Given the description of an element on the screen output the (x, y) to click on. 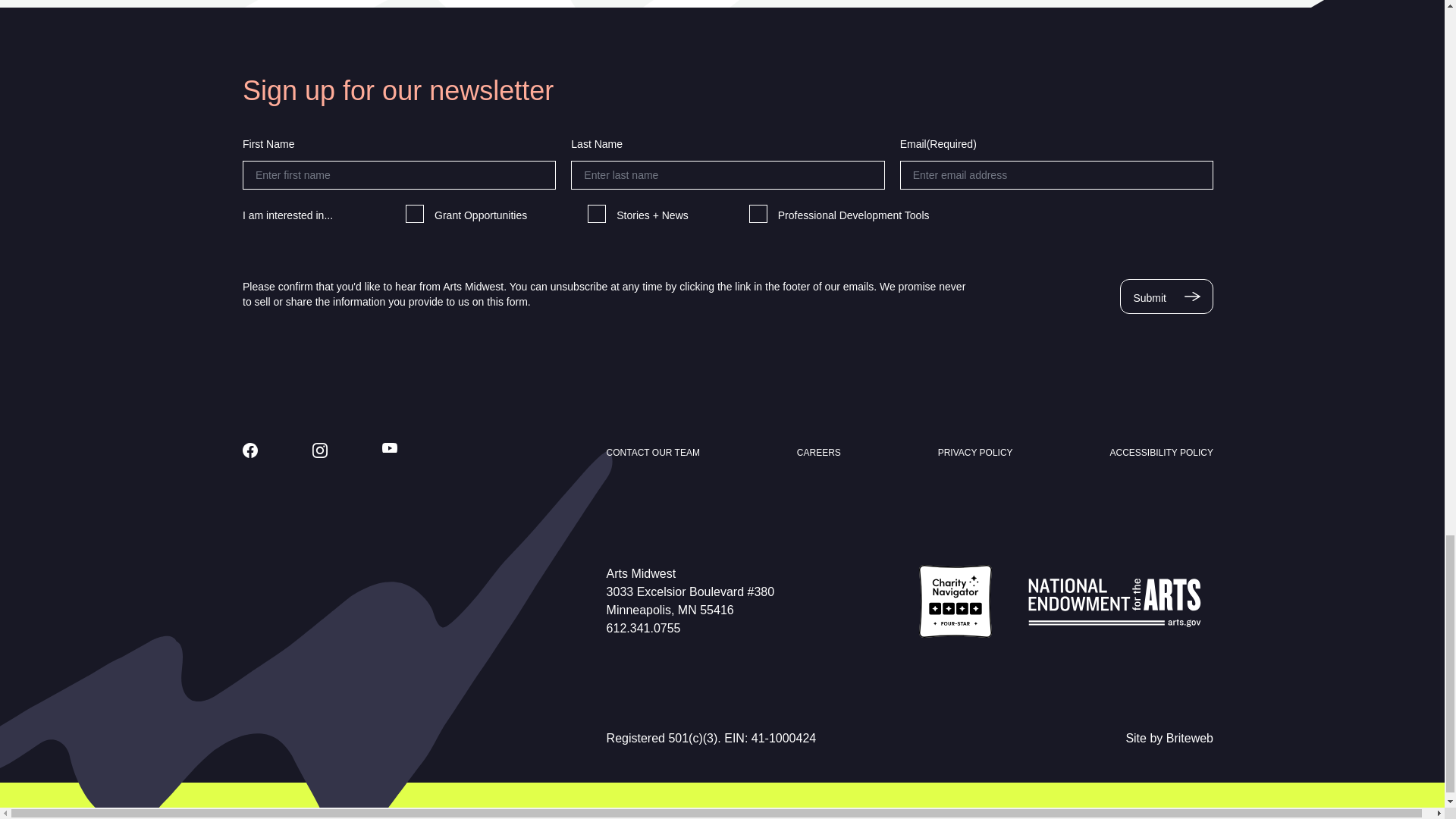
Follow us on Facebook (250, 450)
Careers (818, 452)
Grant Opportunities (414, 213)
Contact Our Team (653, 452)
Follow us on Instagram (320, 450)
Accessibility Policy (1160, 452)
National Endowment for the Arts (1114, 600)
Follow us on Youtube (389, 448)
Privacy Policy (975, 452)
Professional Development Tools (758, 213)
Arts Midwest on Charity Navigator (954, 600)
